Given the description of an element on the screen output the (x, y) to click on. 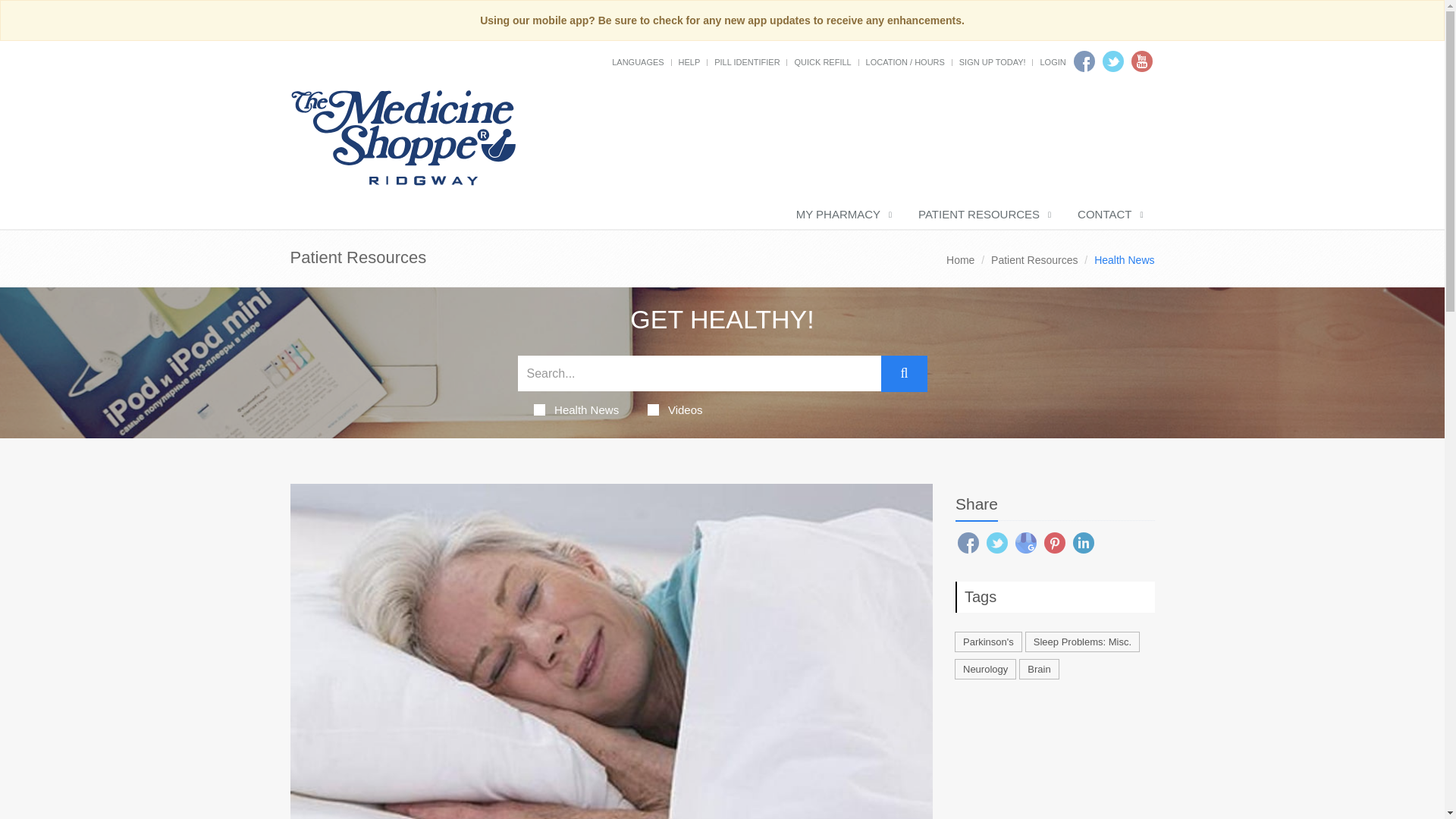
MY PHARMACY (841, 214)
PATIENT RESOURCES (982, 214)
LANGUAGES (637, 61)
LOGIN (1052, 61)
HELP (689, 61)
PILL IDENTIFIER (746, 61)
SIGN UP TODAY! (992, 61)
QUICK REFILL (821, 61)
CONTACT (1108, 214)
Home (960, 259)
Patient Resources (1034, 259)
